Given the description of an element on the screen output the (x, y) to click on. 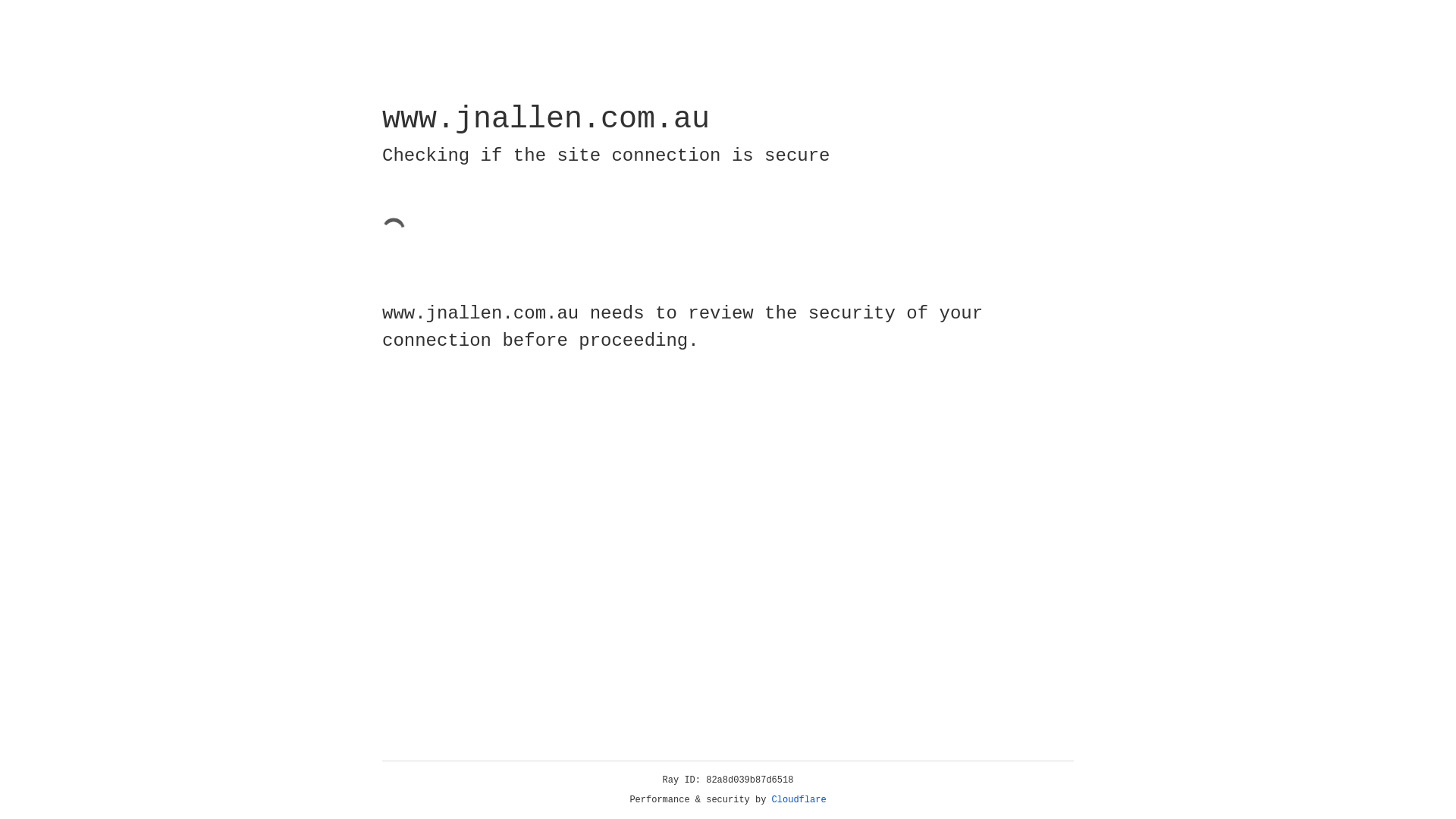
Cloudflare Element type: text (798, 799)
